Given the description of an element on the screen output the (x, y) to click on. 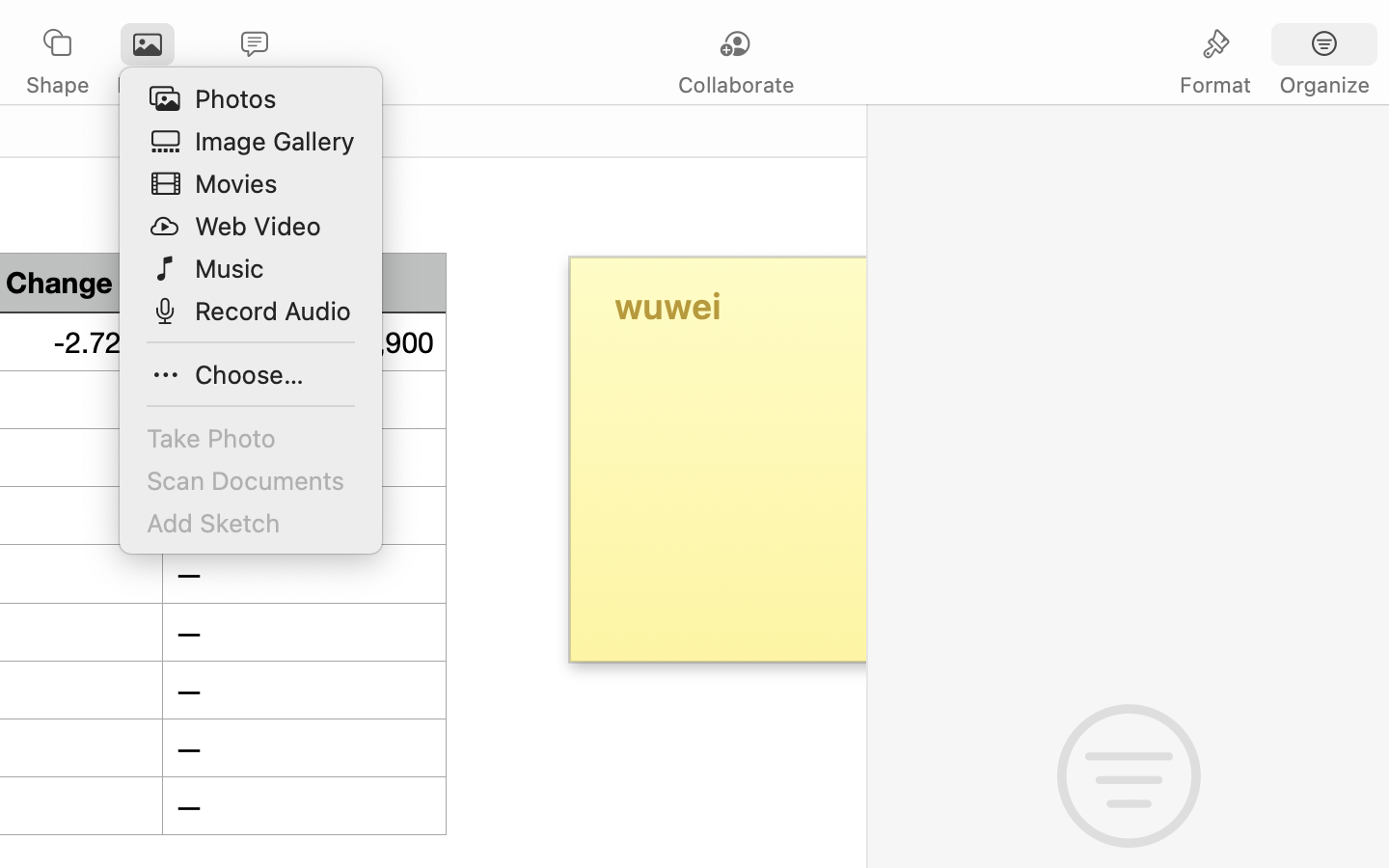
Format Element type: AXStaticText (1215, 84)
Organize Element type: AXStaticText (1323, 84)
<AXUIElement 0x17348a030> {pid=1420} Element type: AXGroup (1270, 45)
Media Element type: AXStaticText (146, 84)
